Given the description of an element on the screen output the (x, y) to click on. 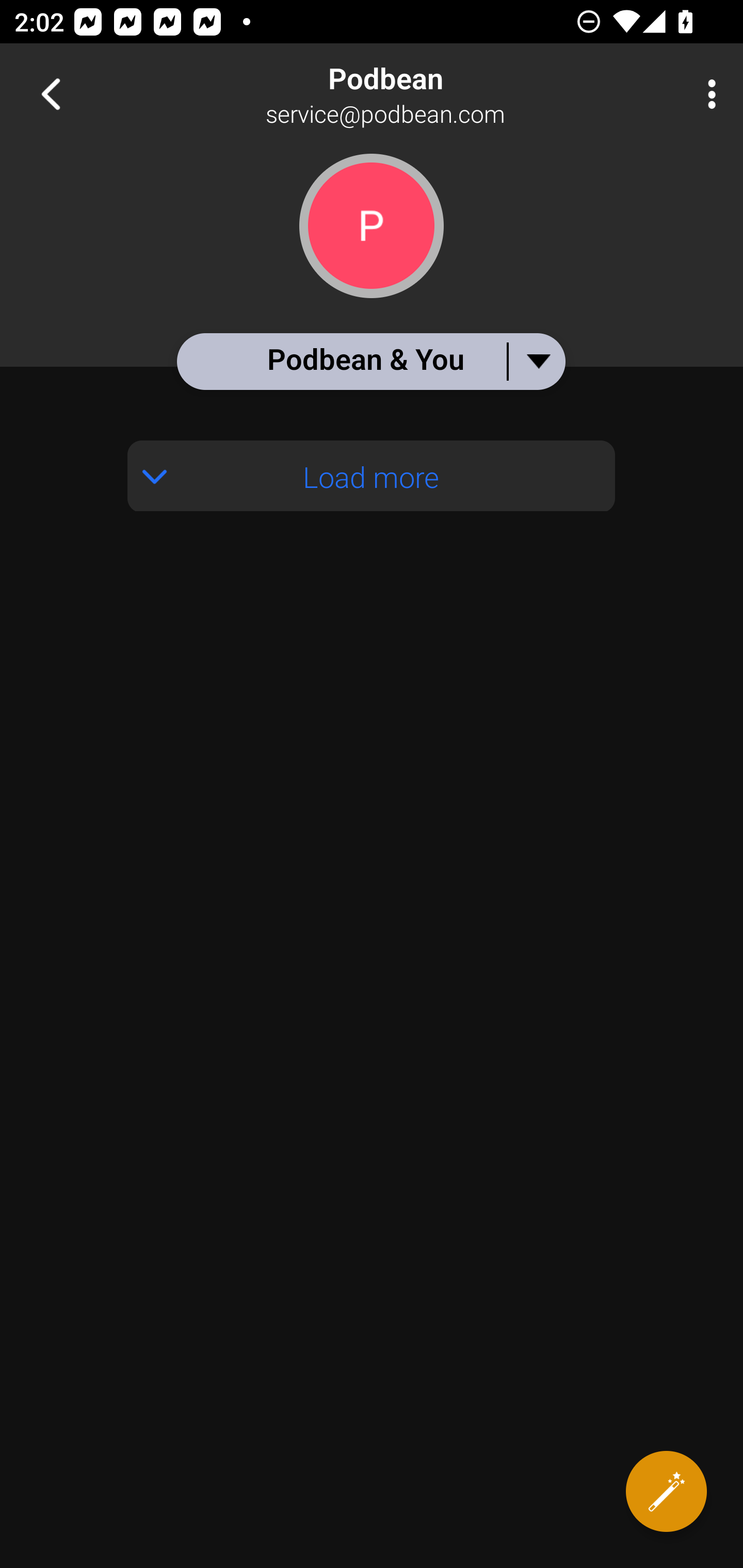
Navigate up (50, 93)
Podbean service@podbean.com (436, 93)
More Options (706, 93)
Podbean & You (370, 361)
Load more (371, 475)
